Given the description of an element on the screen output the (x, y) to click on. 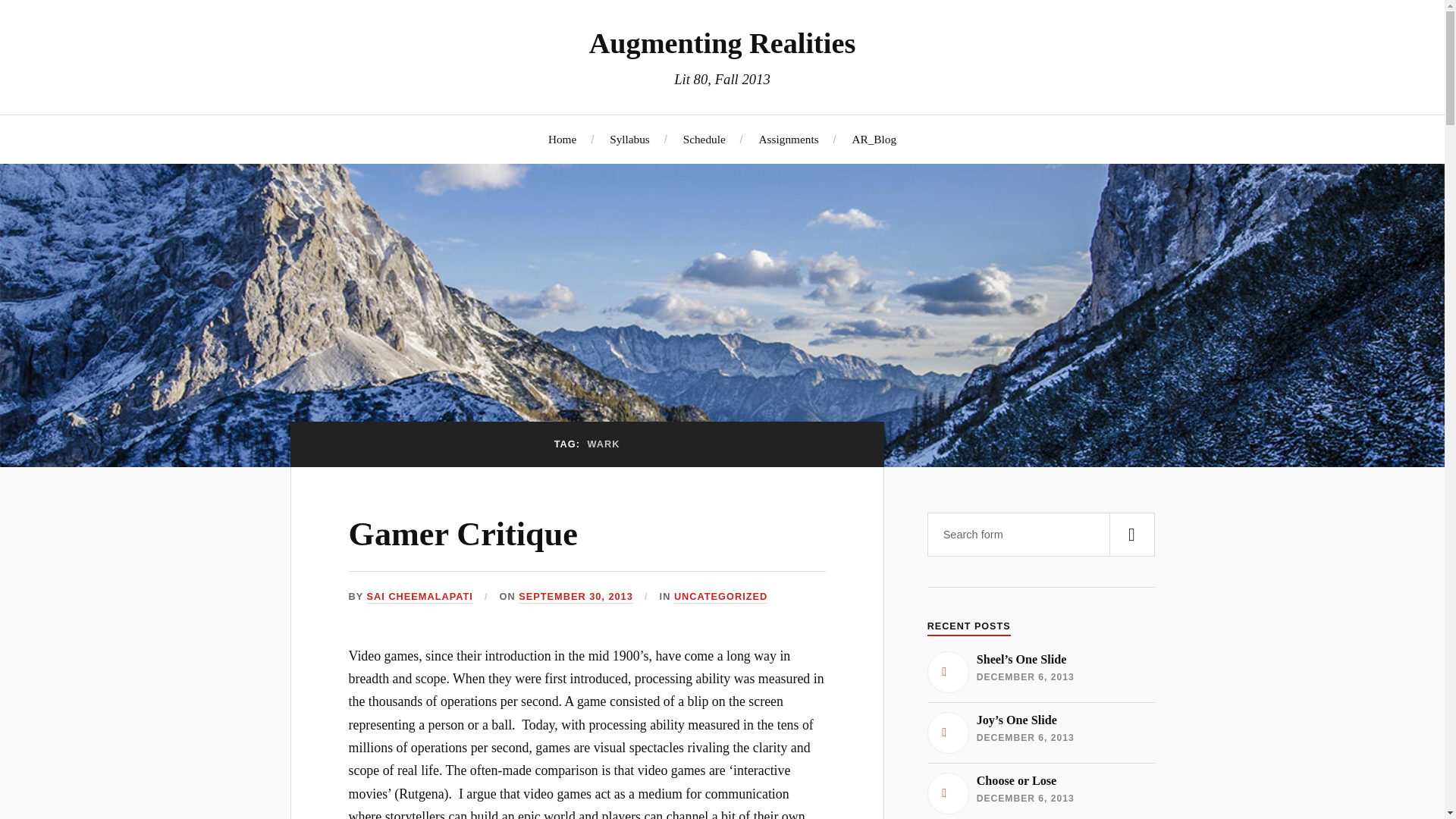
Schedule (703, 138)
Assignments (788, 138)
Augmenting Realities (722, 42)
SAI CHEEMALAPATI (419, 596)
UNCATEGORIZED (720, 596)
Posts by Sai Cheemalapati (419, 596)
SEPTEMBER 30, 2013 (575, 596)
Gamer Critique (1040, 793)
